Given the description of an element on the screen output the (x, y) to click on. 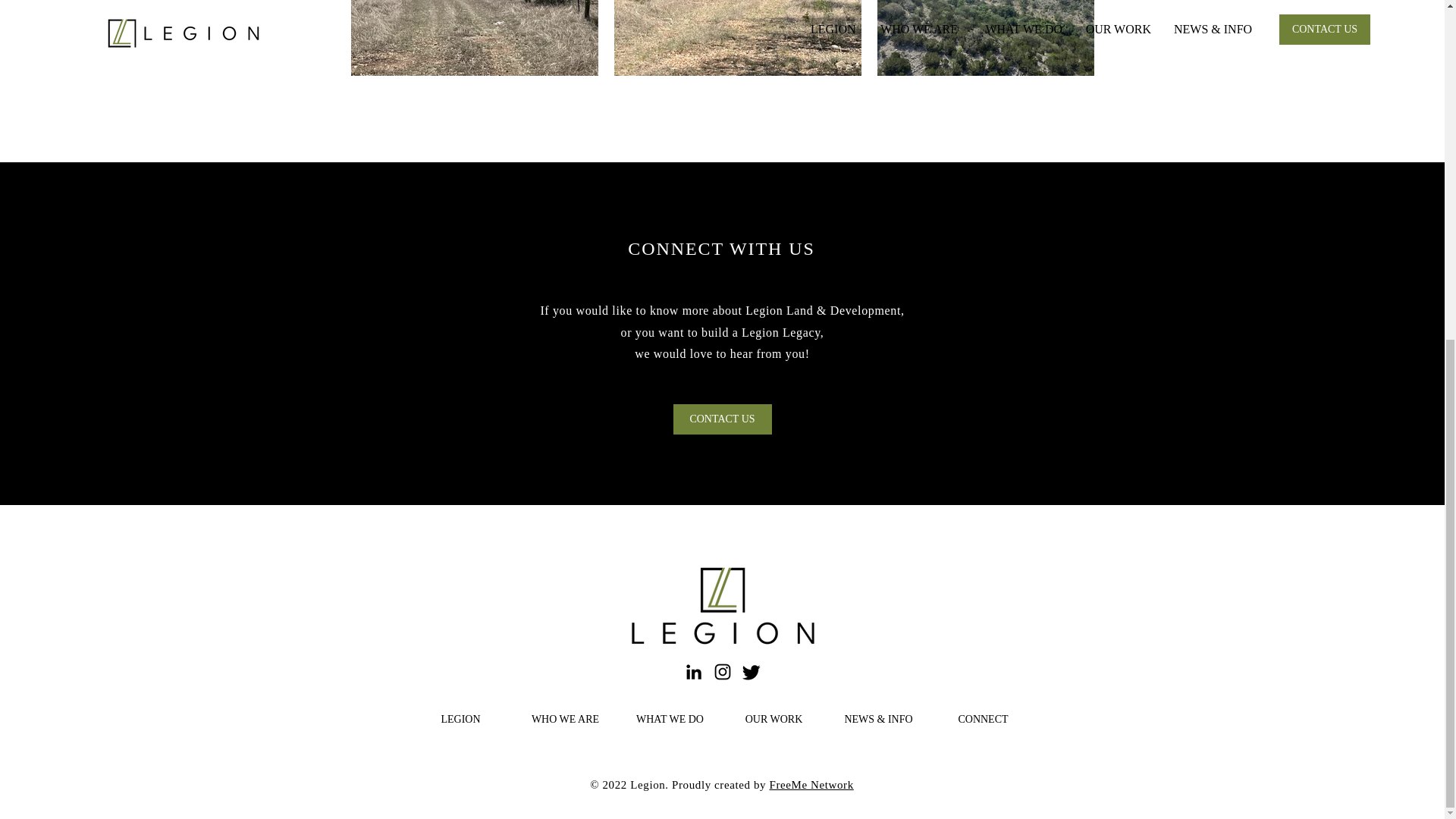
CONNECT (982, 719)
LEGION (460, 719)
WHO WE ARE (565, 719)
OUR WORK (773, 719)
WHAT WE DO (670, 719)
CONTACT US (721, 419)
FreeMe Network (811, 784)
